Given the description of an element on the screen output the (x, y) to click on. 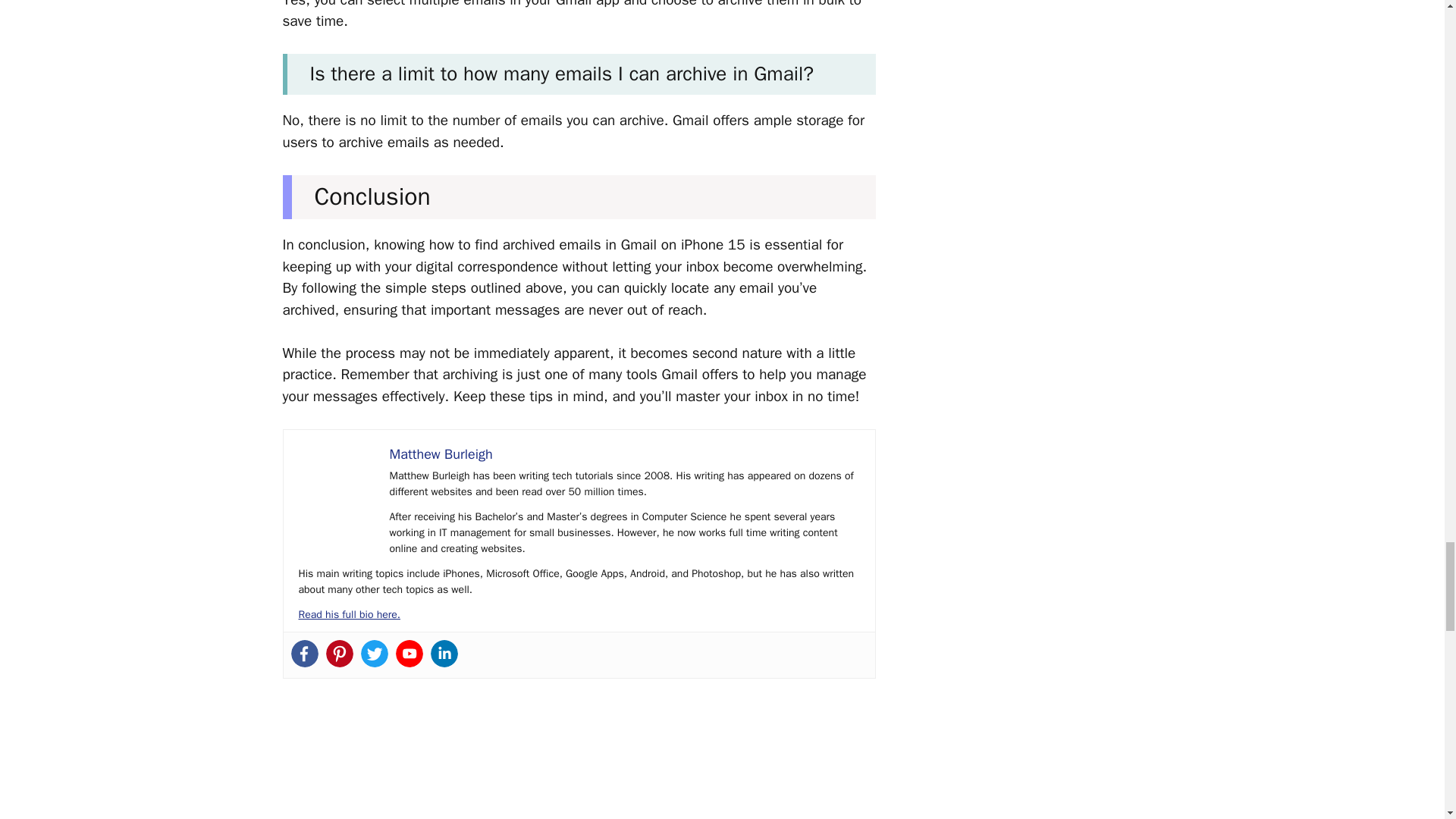
Facebook (304, 653)
Linkedin (444, 653)
Read his full bio here. (349, 614)
Twitter (374, 653)
Matthew Burleigh (441, 453)
Pinterest (339, 653)
Youtube (409, 653)
